Given the description of an element on the screen output the (x, y) to click on. 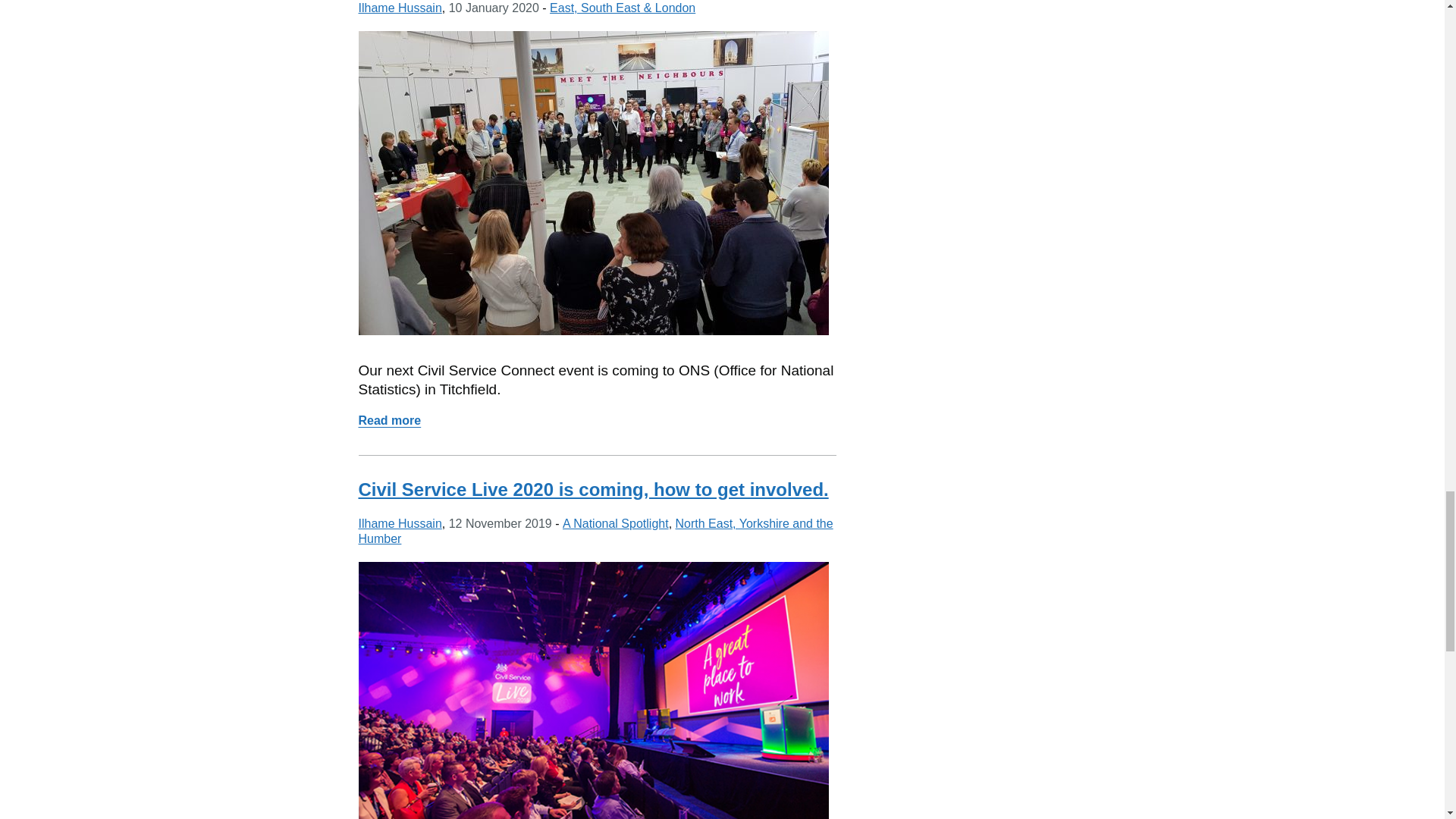
Ilhame Hussain (399, 7)
Civil Service Live 2020 is coming, how to get involved. (593, 489)
Posts by Ilhame Hussain (389, 420)
Posts by Ilhame Hussain (399, 522)
